Given the description of an element on the screen output the (x, y) to click on. 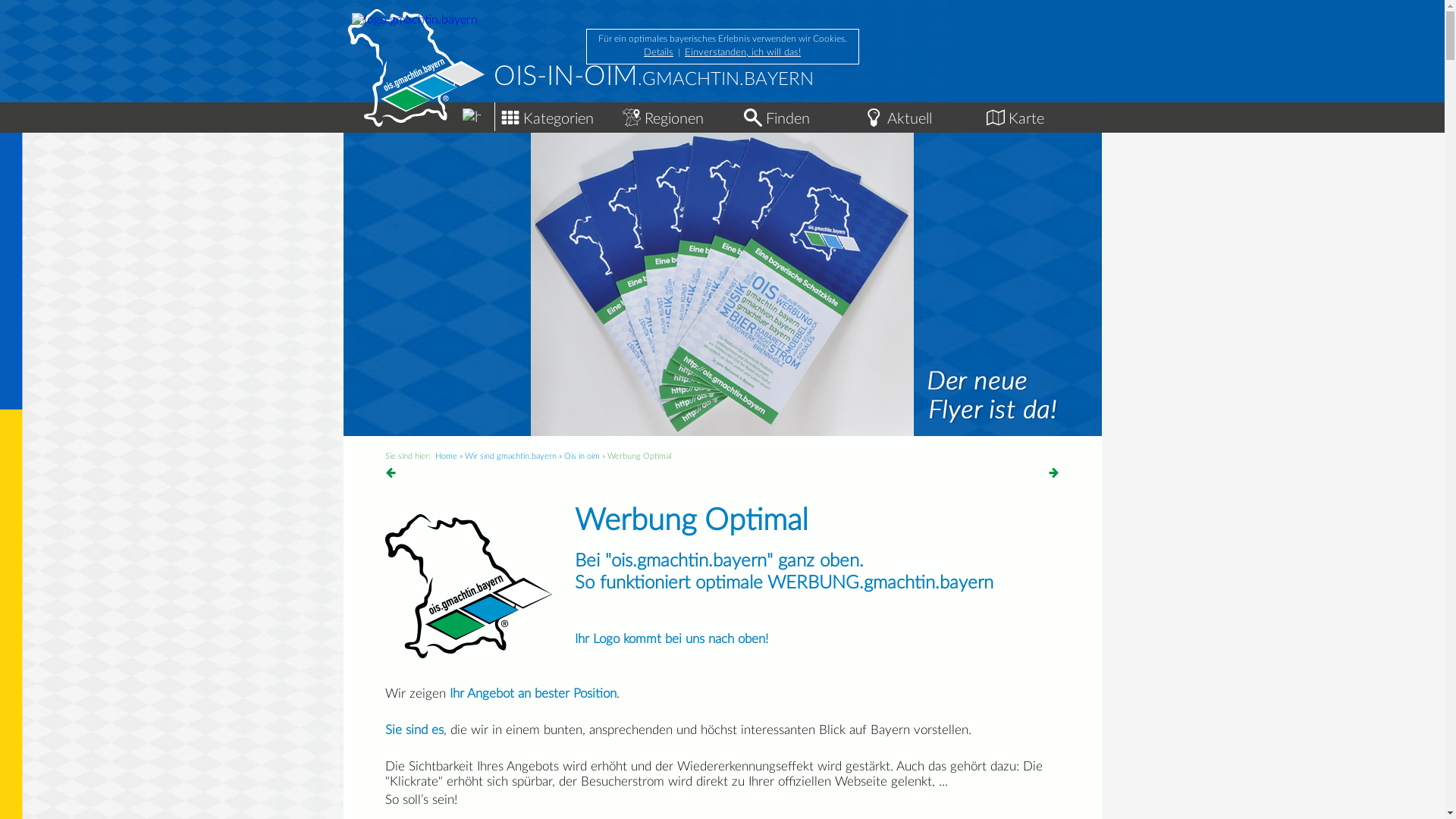
Home Element type: text (446, 455)
Home Element type: text (417, 111)
in den Regionen bei gmachtin.bayern Element type: hover (630, 117)
Aktuell Element type: text (918, 115)
auf der Karte bei gmachtin.bayern Element type: hover (994, 117)
dahoam bei gmachtin.bayern Element type: hover (471, 117)
Details Element type: text (658, 52)
Karte Element type: text (1040, 115)
Einverstanden, ich will das! Element type: text (742, 52)
Aktuelle Events im Freistaat Element type: hover (873, 117)
Finden bei gmachtin.bayern Element type: hover (752, 117)
kategorien bei gmachtin.bayern Element type: hover (509, 117)
Finden Element type: text (797, 115)
Kategorien Element type: text (554, 115)
Ois in oim Element type: text (581, 455)
Wir sind gmachtin.bayern Element type: text (509, 455)
Regionen Element type: text (676, 115)
